Given the description of an element on the screen output the (x, y) to click on. 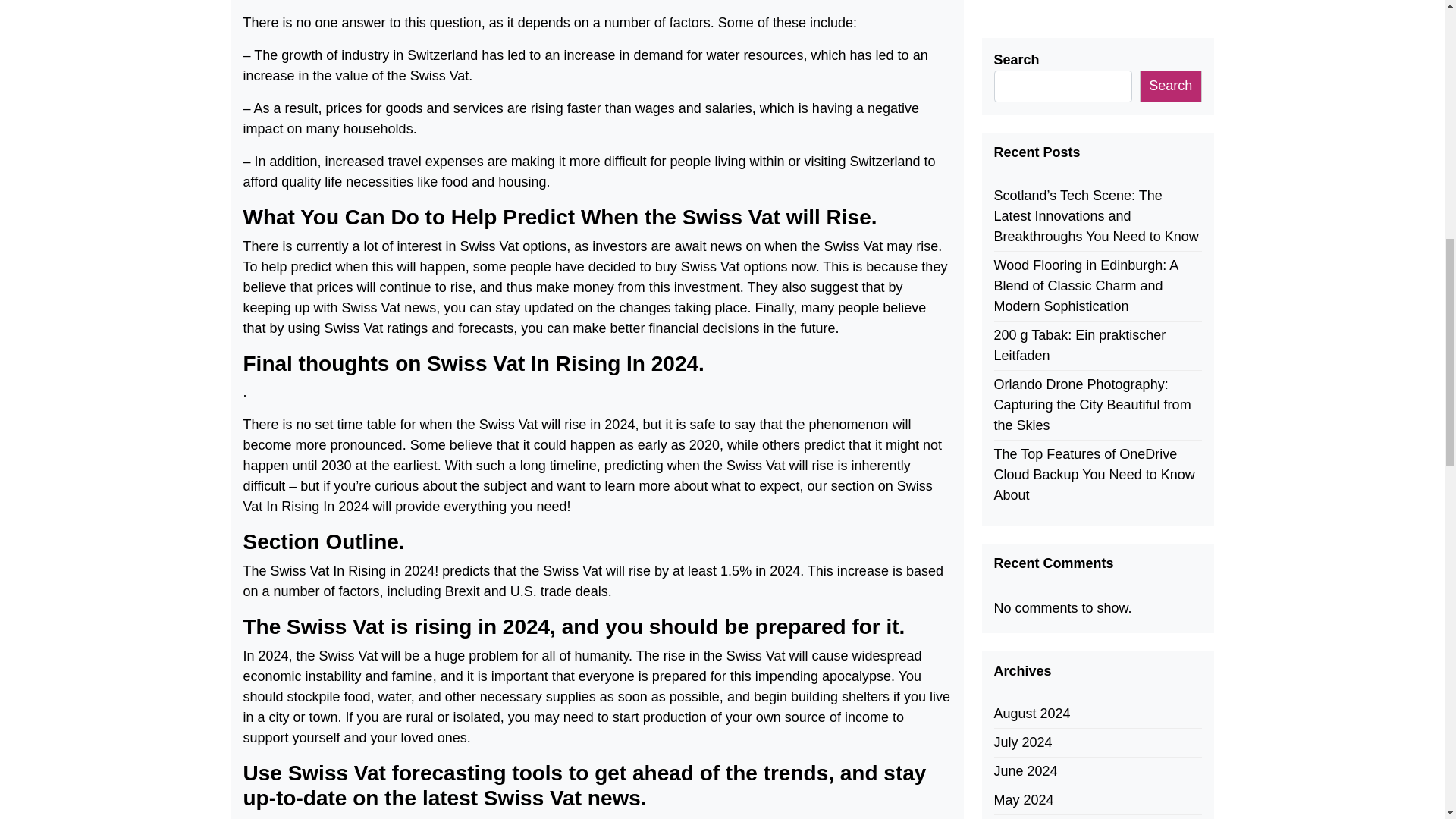
May 2023 (1022, 669)
April 2024 (1023, 352)
March 2024 (1028, 381)
October 2023 (1033, 525)
June 2024 (1024, 294)
April 2023 (1023, 697)
July 2023 (1021, 611)
September 2023 (1043, 553)
June 2023 (1024, 639)
March 2023 (1028, 726)
